Given the description of an element on the screen output the (x, y) to click on. 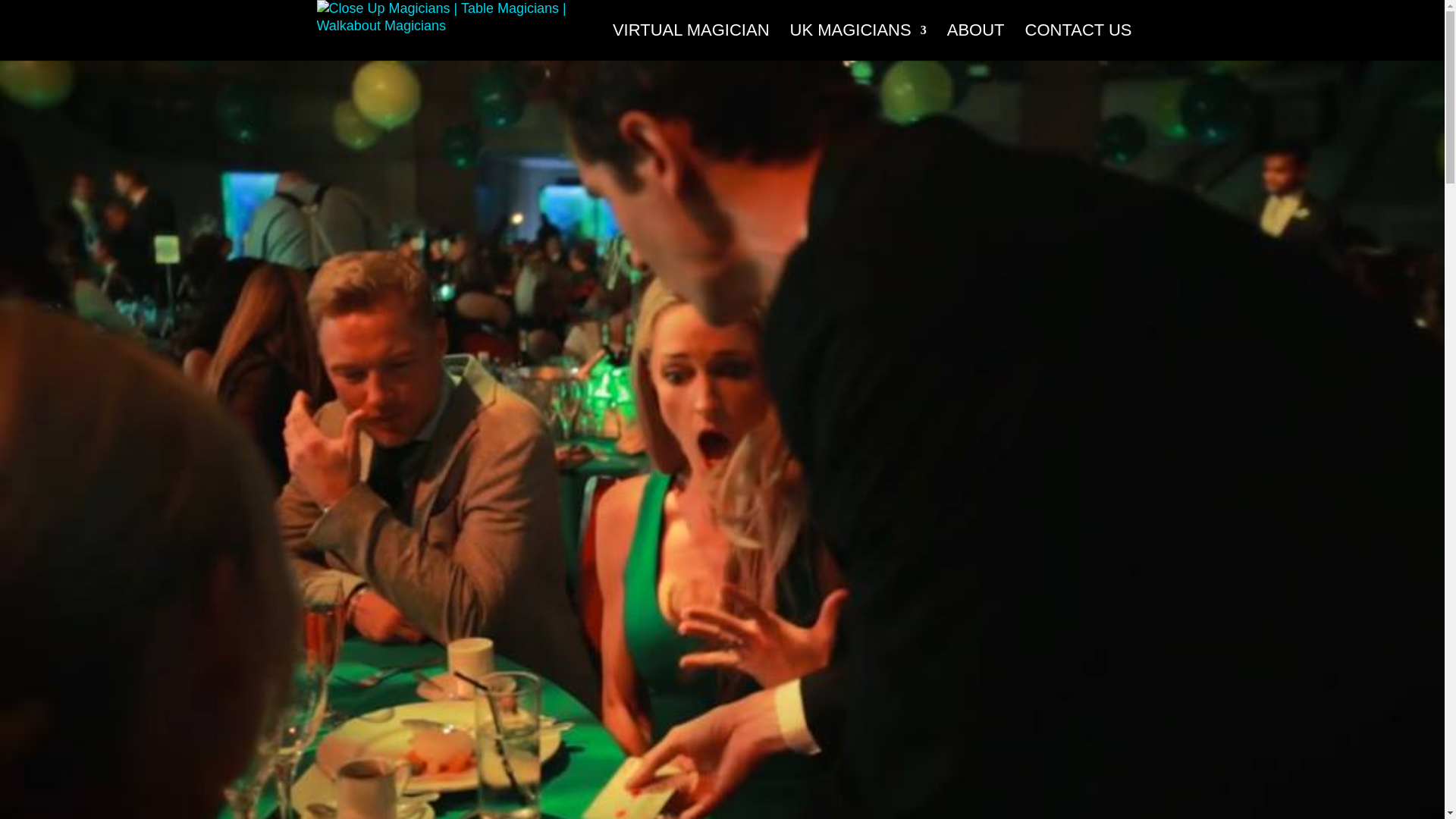
CONTACT US (1078, 42)
Virtual Magician (691, 42)
UK MAGICIANS (858, 42)
ABOUT (975, 42)
VIRTUAL MAGICIAN (691, 42)
